Given the description of an element on the screen output the (x, y) to click on. 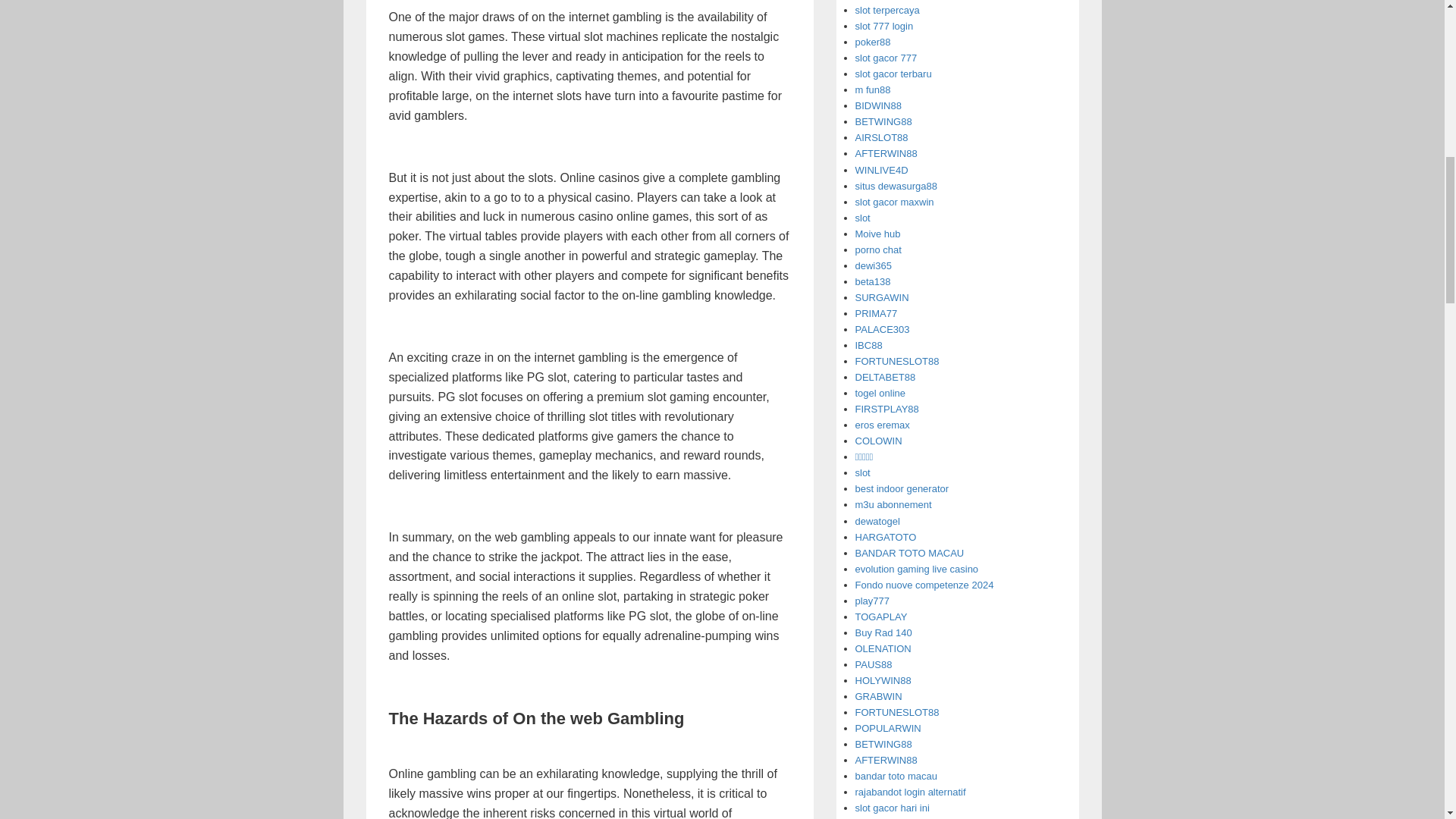
slot terpercaya (888, 9)
poker88 (873, 41)
slot 777 login (885, 25)
